Given the description of an element on the screen output the (x, y) to click on. 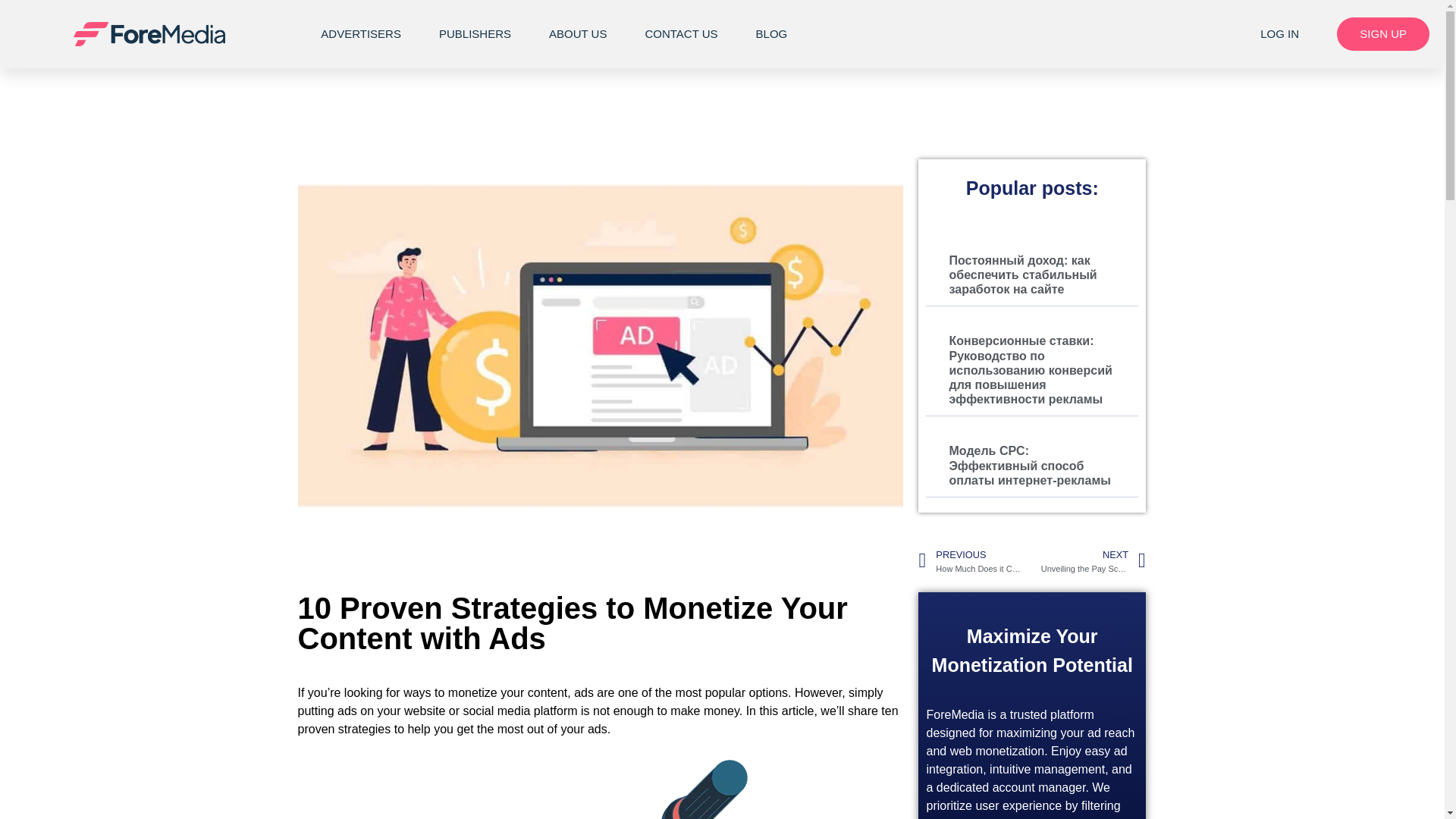
SIGN UP (1382, 33)
CONTACT US (681, 33)
PUBLISHERS (475, 33)
ADVERTISERS (360, 33)
LOG IN (1279, 33)
